Given the description of an element on the screen output the (x, y) to click on. 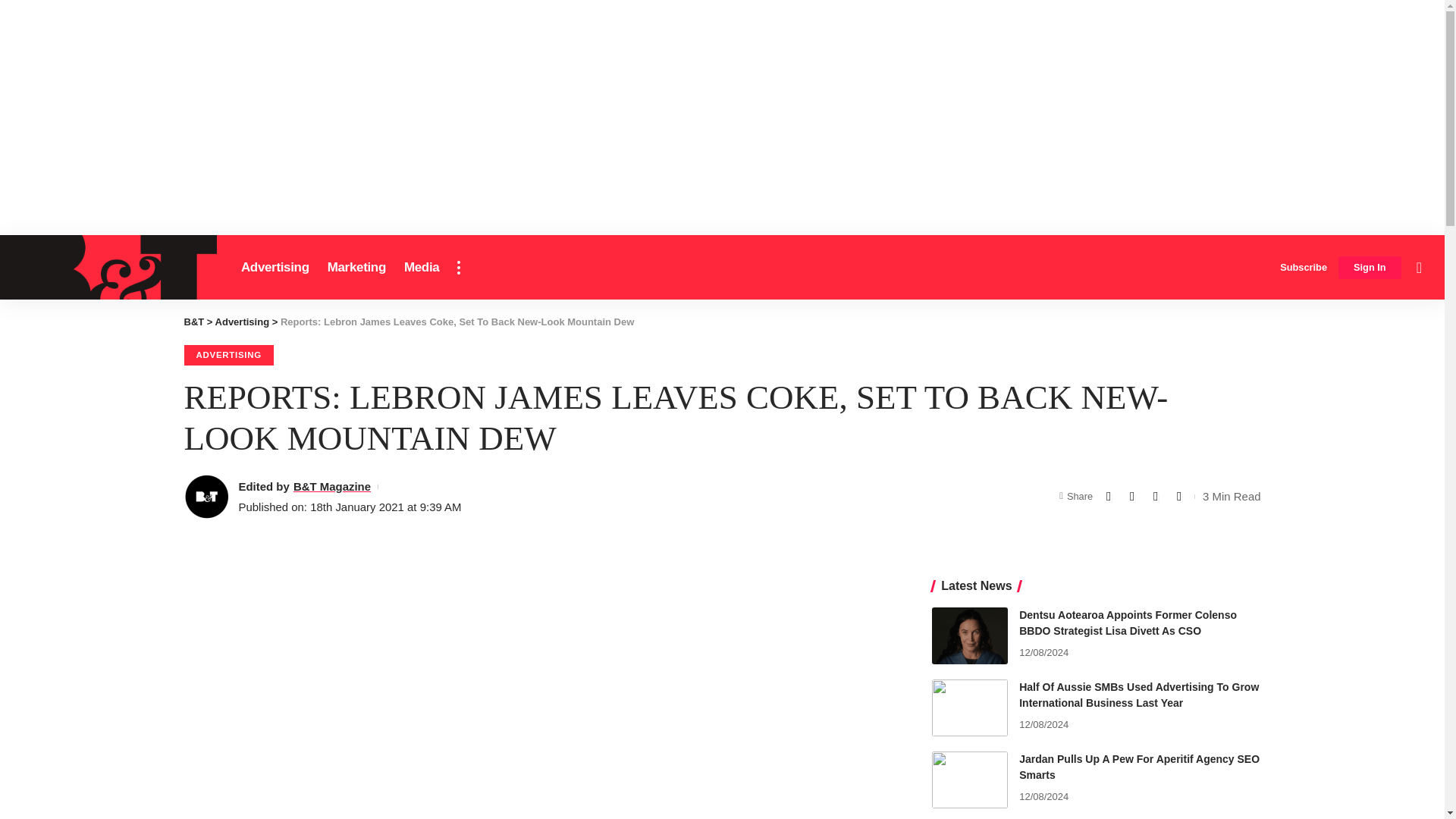
Marketing (356, 267)
Advertising (274, 267)
Sign In (1369, 267)
Jardan Pulls Up A Pew For Aperitif Agency SEO Smarts (969, 779)
Go to the Advertising Category archives. (242, 321)
